Given the description of an element on the screen output the (x, y) to click on. 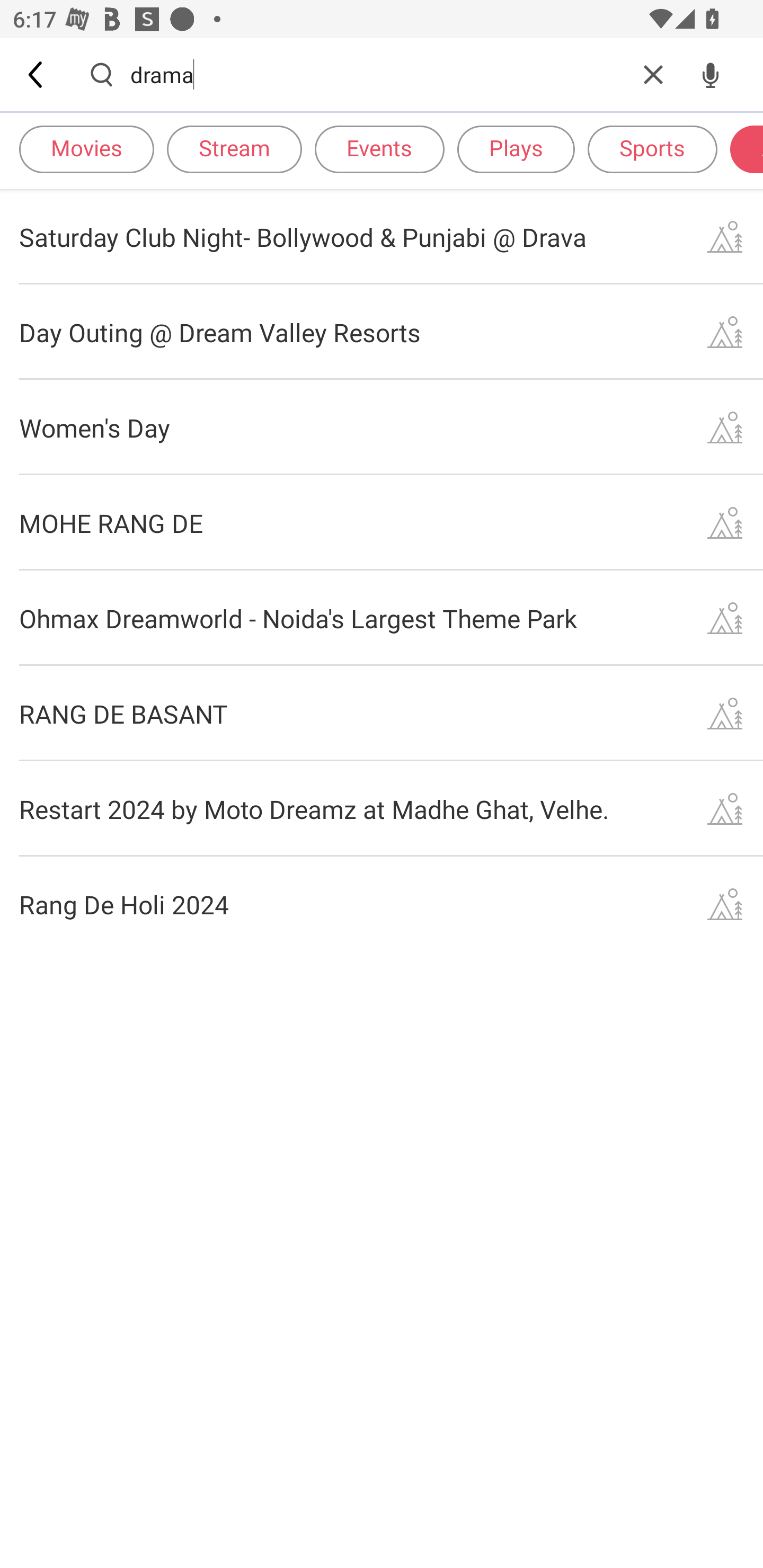
Back (36, 74)
drama (377, 74)
Clear (653, 74)
Movies (86, 148)
Stream (234, 148)
Events (379, 148)
Plays (515, 148)
Sports (652, 148)
Saturday Club Night- Bollywood & Punjabi @ Drava (381, 236)
Day Outing @ Dream Valley Resorts (381, 331)
Women's Day (381, 427)
MOHE RANG DE (381, 522)
Ohmax Dreamworld - Noida's Largest Theme Park (381, 618)
RANG DE BASANT (381, 713)
Restart 2024 by Moto Dreamz at Madhe Ghat, Velhe. (381, 808)
Rang De Holi 2024 (381, 903)
